Given the description of an element on the screen output the (x, y) to click on. 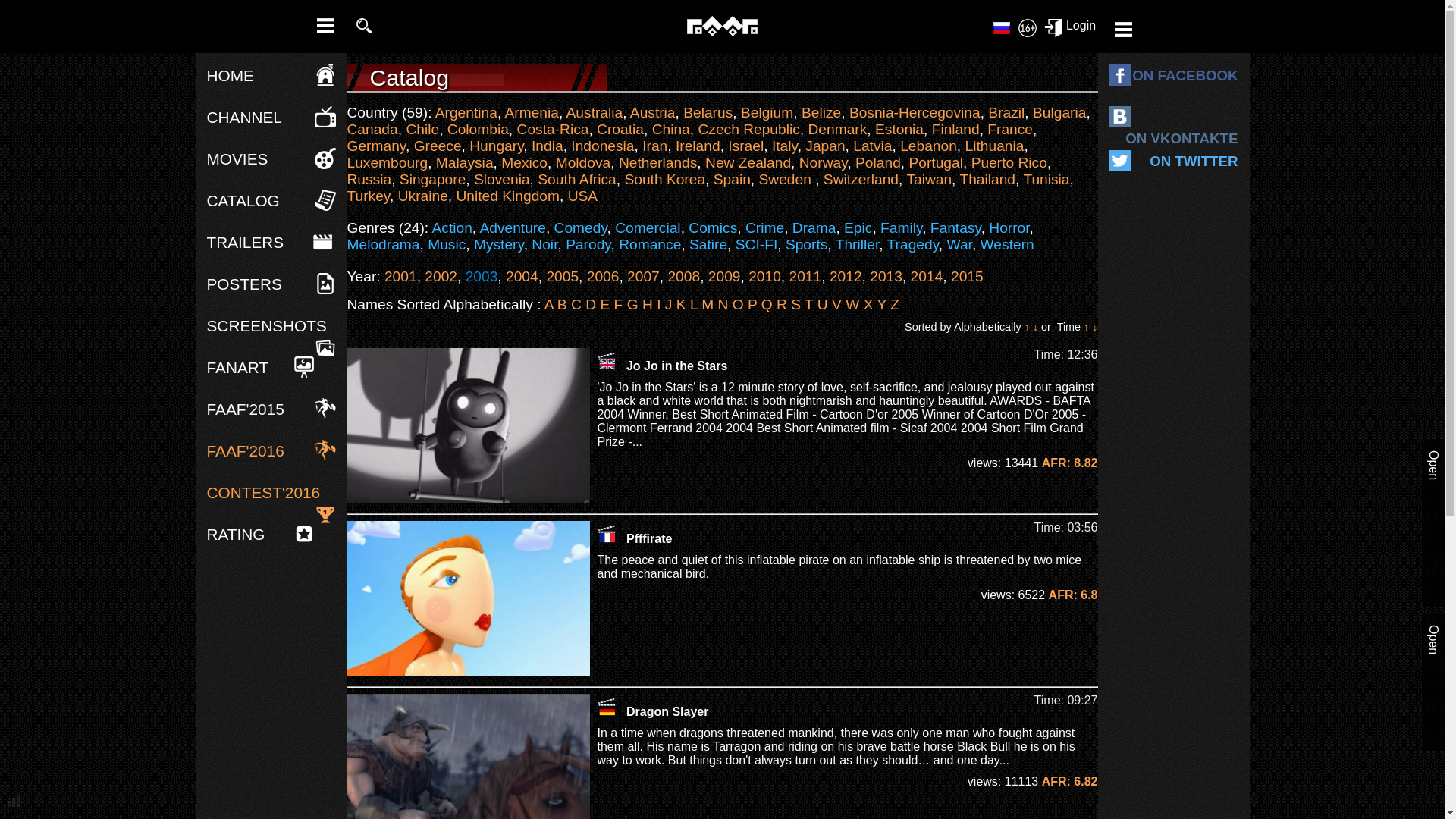
France (1009, 129)
Belgium (767, 112)
HOME (229, 75)
Chile (422, 129)
FAAF'2016 (244, 450)
Germany (605, 706)
POSTERS (243, 283)
MOVIES (236, 158)
Austria (652, 112)
